Given the description of an element on the screen output the (x, y) to click on. 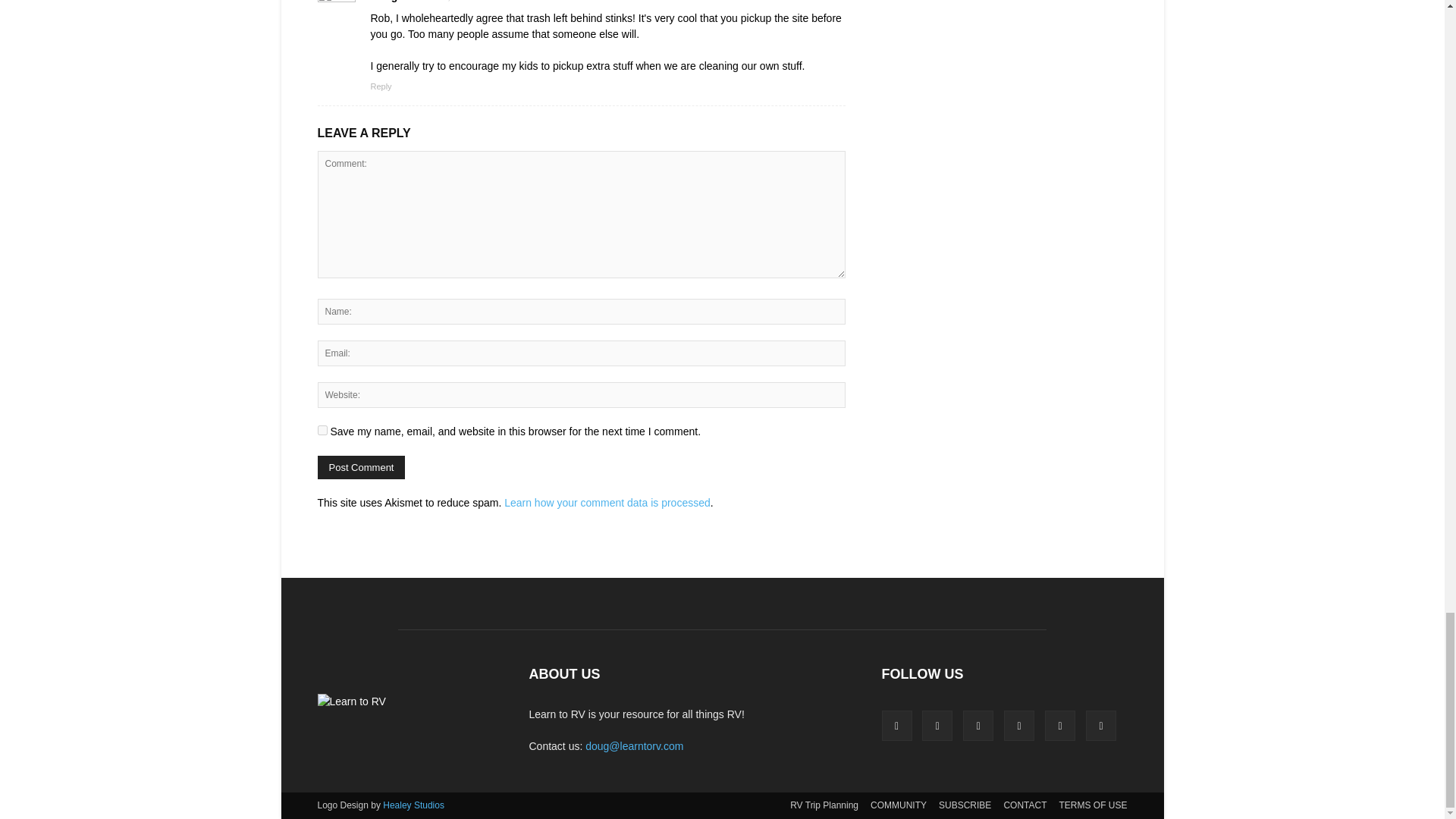
yes (321, 429)
Post Comment (360, 467)
